Given the description of an element on the screen output the (x, y) to click on. 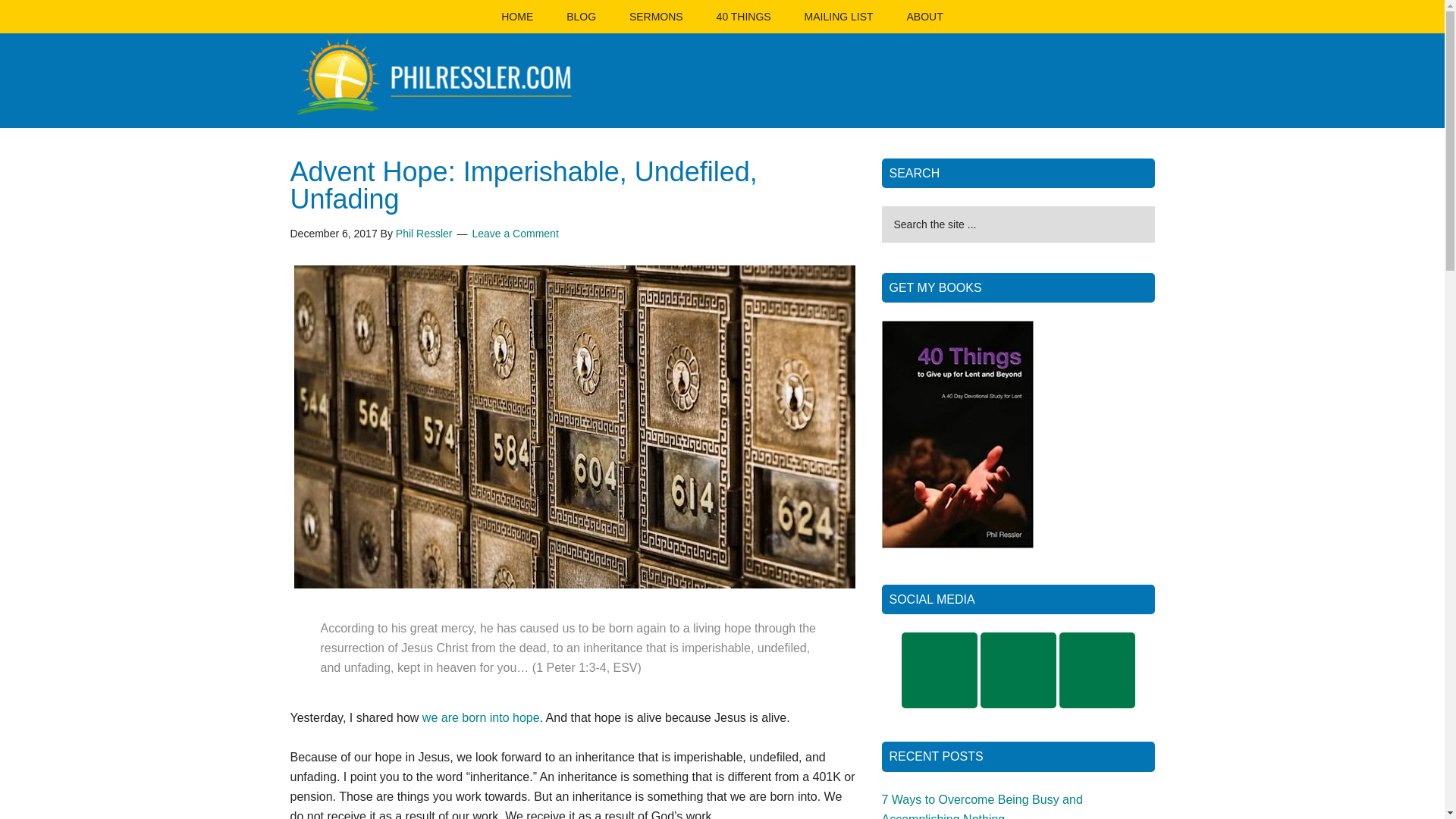
we are born into hope (481, 717)
7 Ways to Overcome Being Busy and Accomplishing Nothing (980, 806)
BLOG (581, 16)
Phil Ressler (424, 233)
40 THINGS (743, 16)
MAILING LIST (838, 16)
Leave a Comment (514, 233)
SERMONS (656, 16)
